Given the description of an element on the screen output the (x, y) to click on. 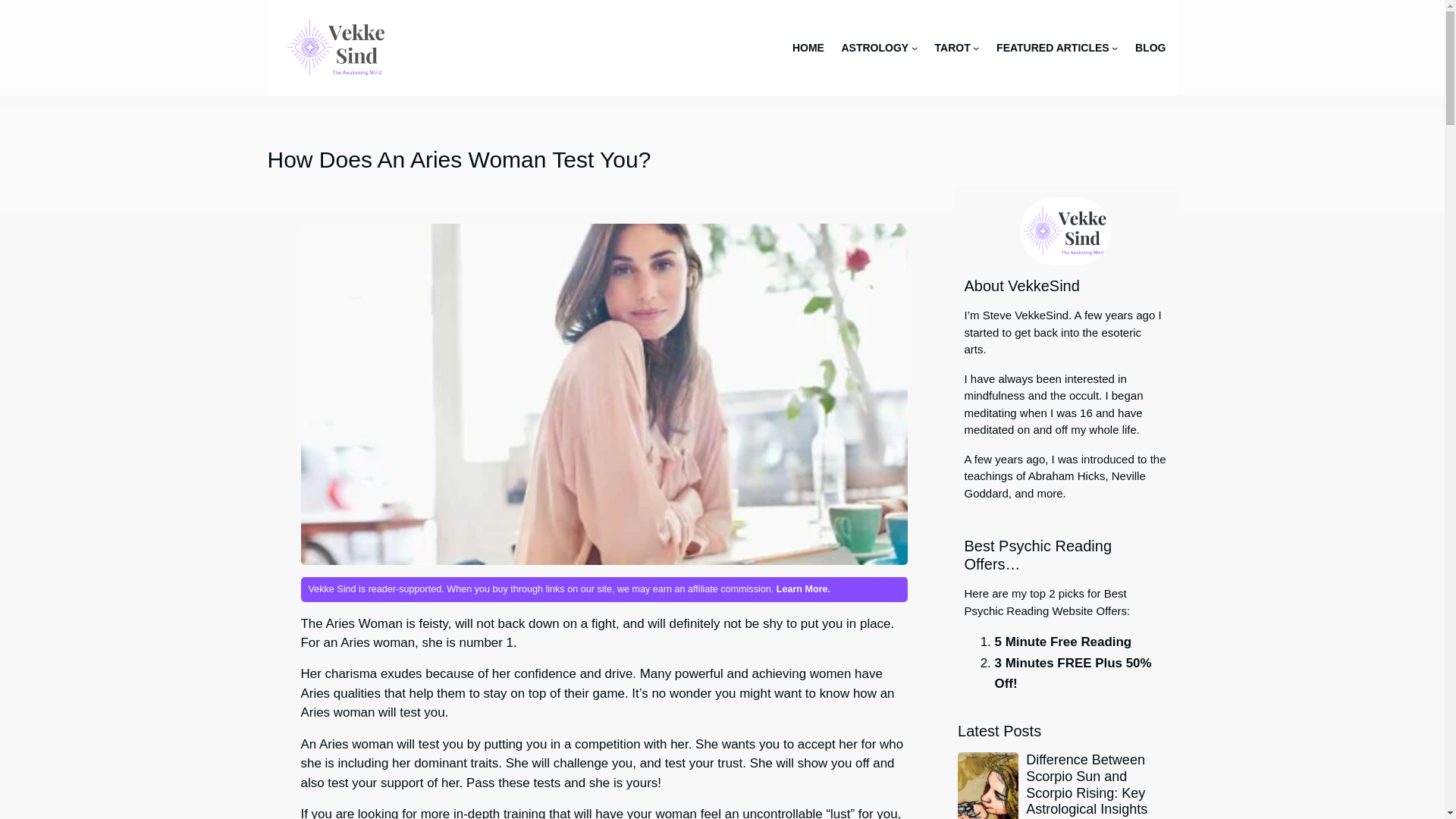
HOME (808, 47)
BLOG (1150, 47)
FEATURED ARTICLES (1052, 47)
ASTROLOGY (874, 47)
TAROT (952, 47)
Learn More. (802, 588)
